Given the description of an element on the screen output the (x, y) to click on. 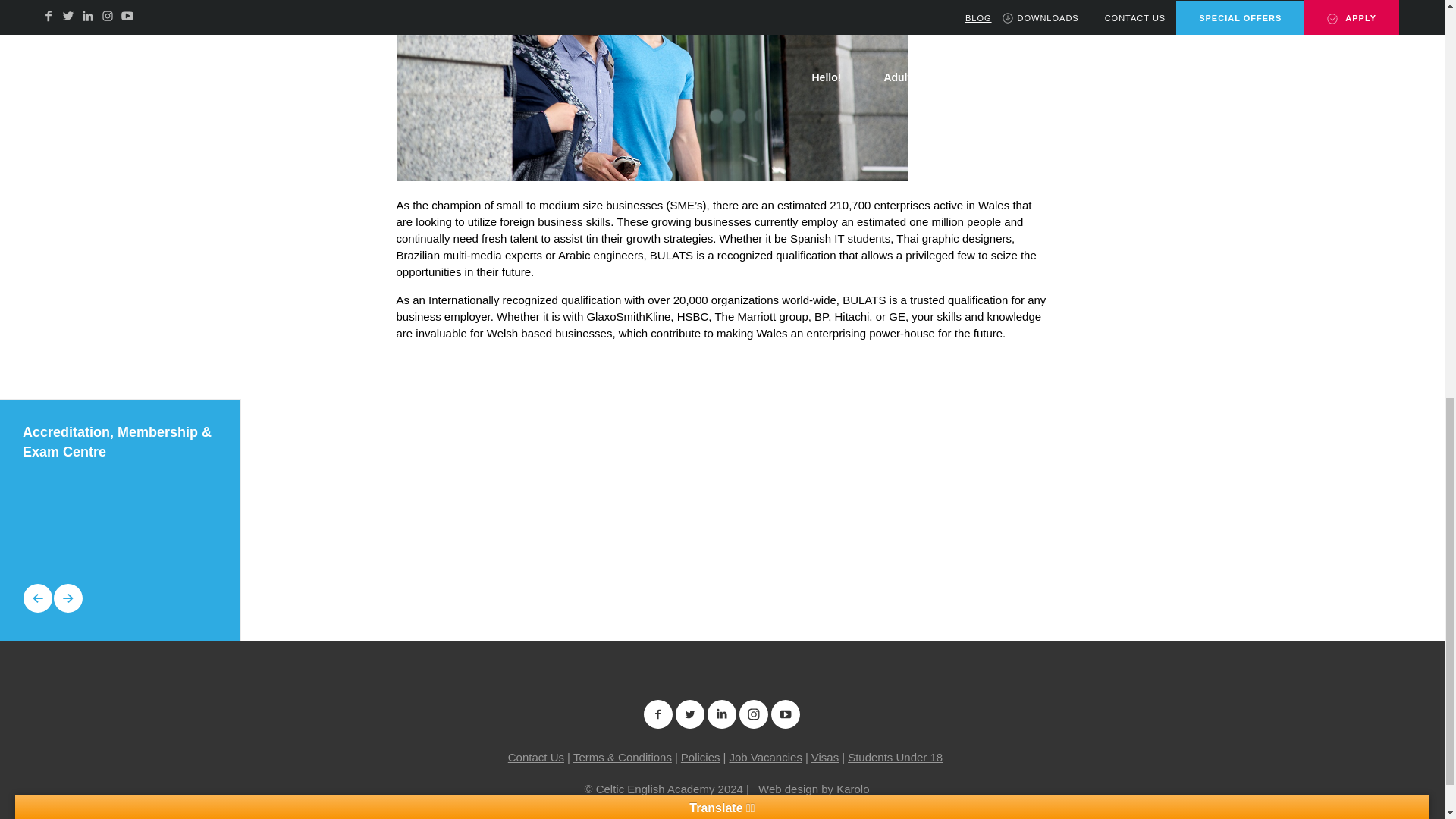
Find us on Facebook (657, 714)
Find us on Twitter (689, 714)
Find us on Instagram (753, 714)
Find us on LinkedIn (721, 714)
Find us on YouTube (785, 714)
